Given the description of an element on the screen output the (x, y) to click on. 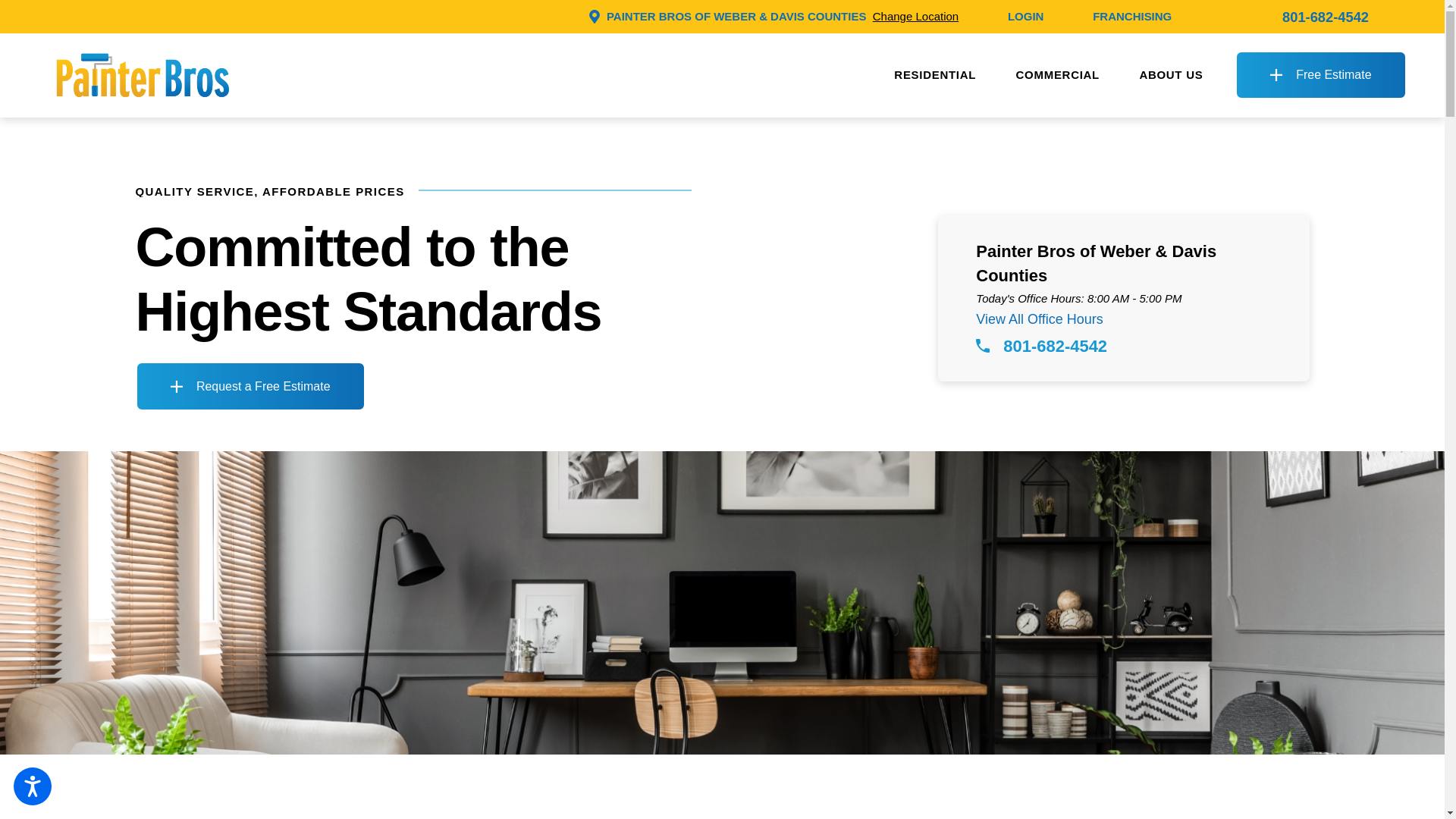
FRANCHISING (1132, 15)
RESIDENTIAL (935, 74)
Open the accessibility options menu (31, 786)
ABOUT US (1170, 74)
LOGIN (1025, 15)
801-682-4542 (1325, 15)
COMMERCIAL (1057, 74)
Change Location (915, 15)
